Given the description of an element on the screen output the (x, y) to click on. 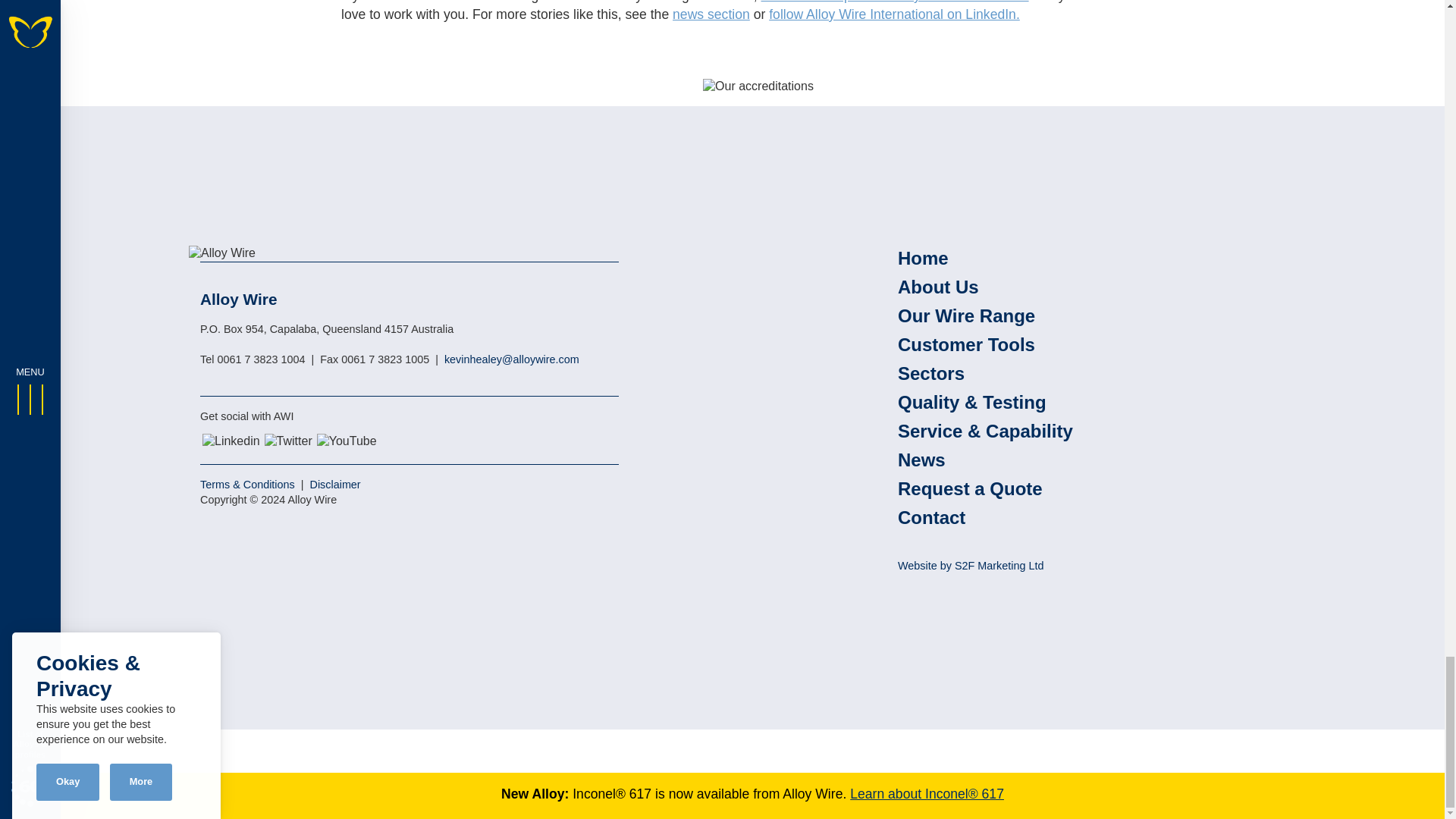
YouTube (347, 441)
Twitter (288, 441)
Linkedin (231, 441)
